Given the description of an element on the screen output the (x, y) to click on. 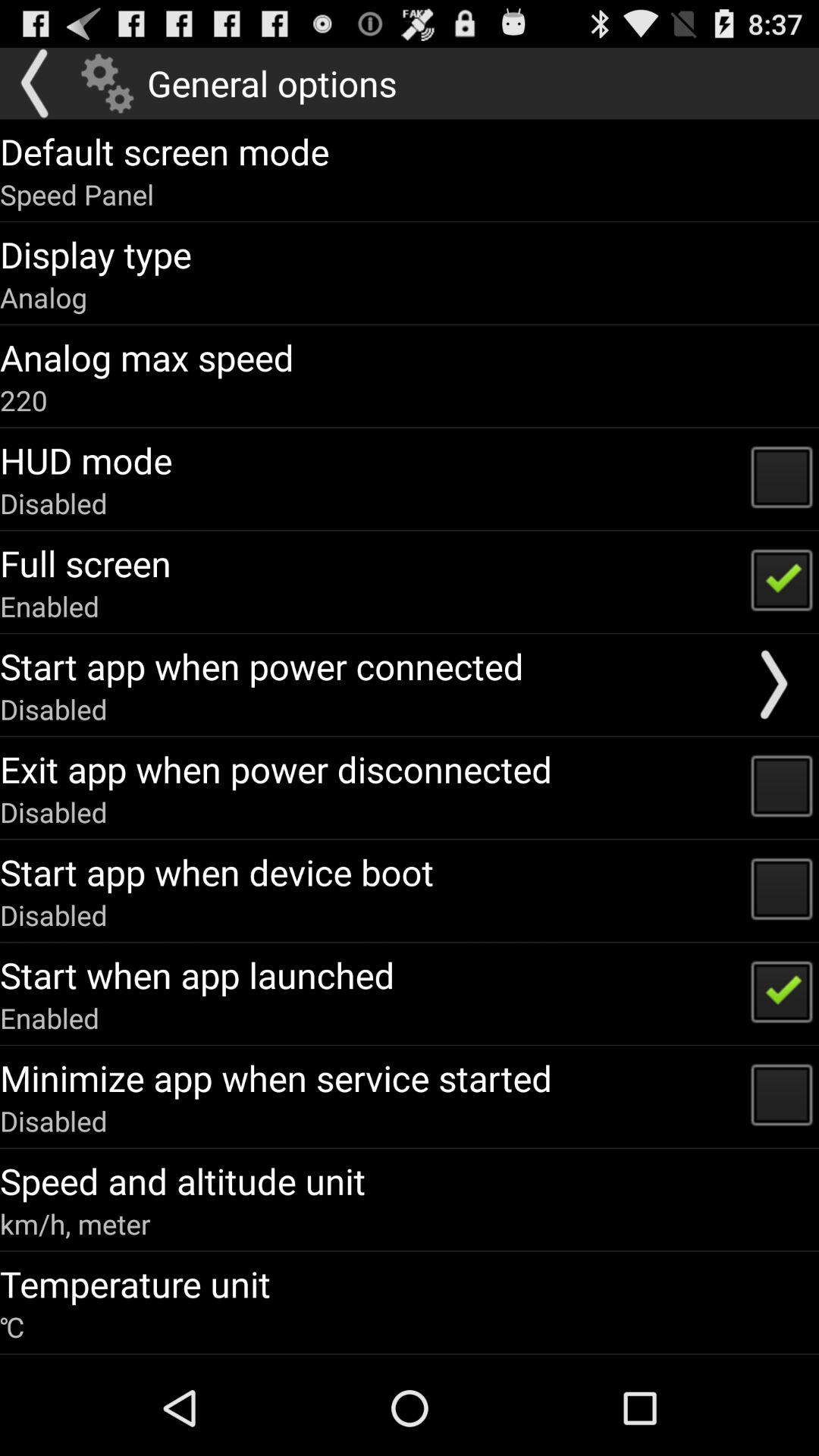
swipe to the analog max speed icon (147, 357)
